Given the description of an element on the screen output the (x, y) to click on. 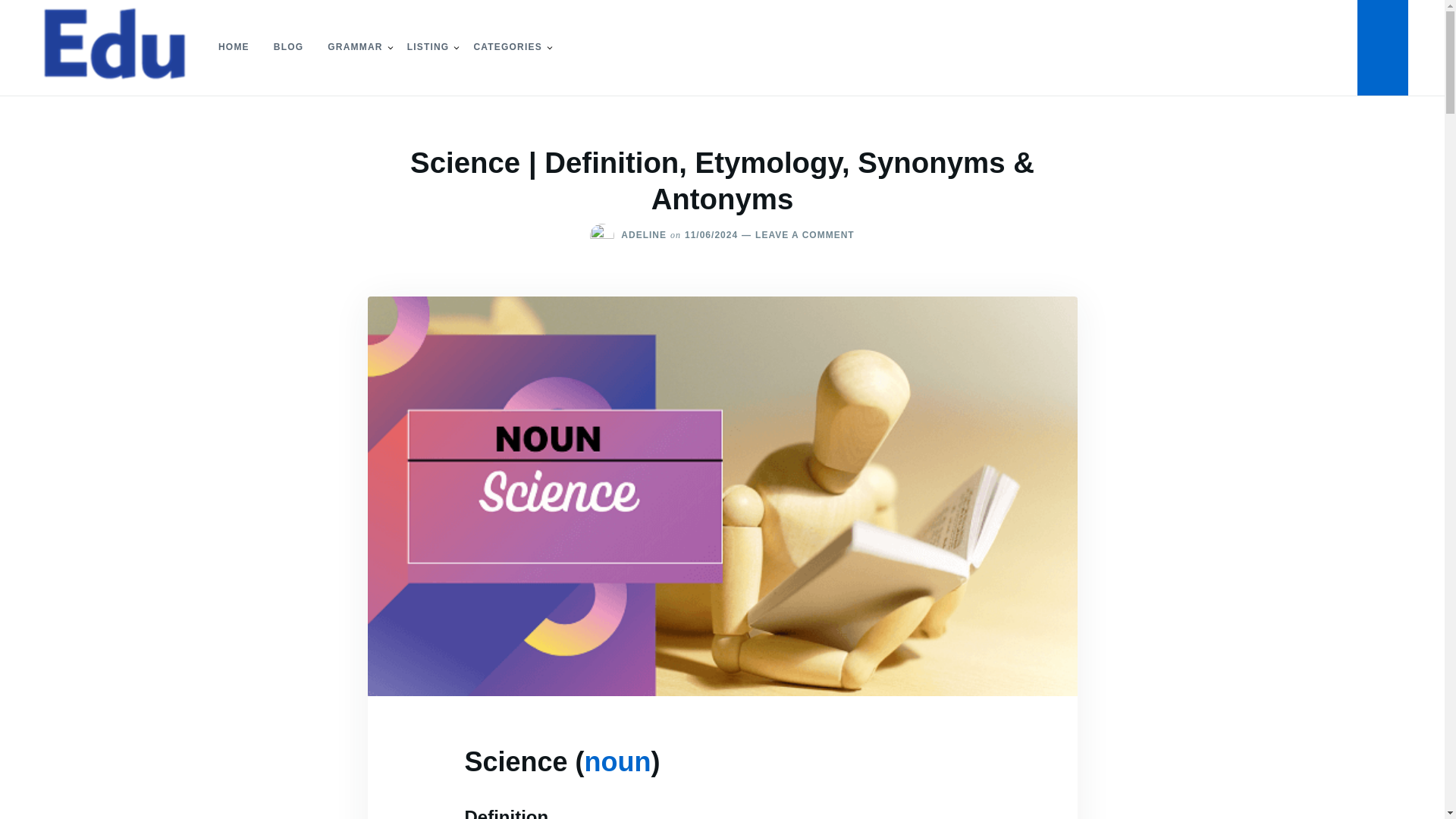
BLOG (288, 47)
LISTING (427, 47)
GRAMMAR (354, 47)
HOME (234, 47)
Edulikes (74, 100)
ADELINE (643, 235)
CATEGORIES (507, 47)
